Given the description of an element on the screen output the (x, y) to click on. 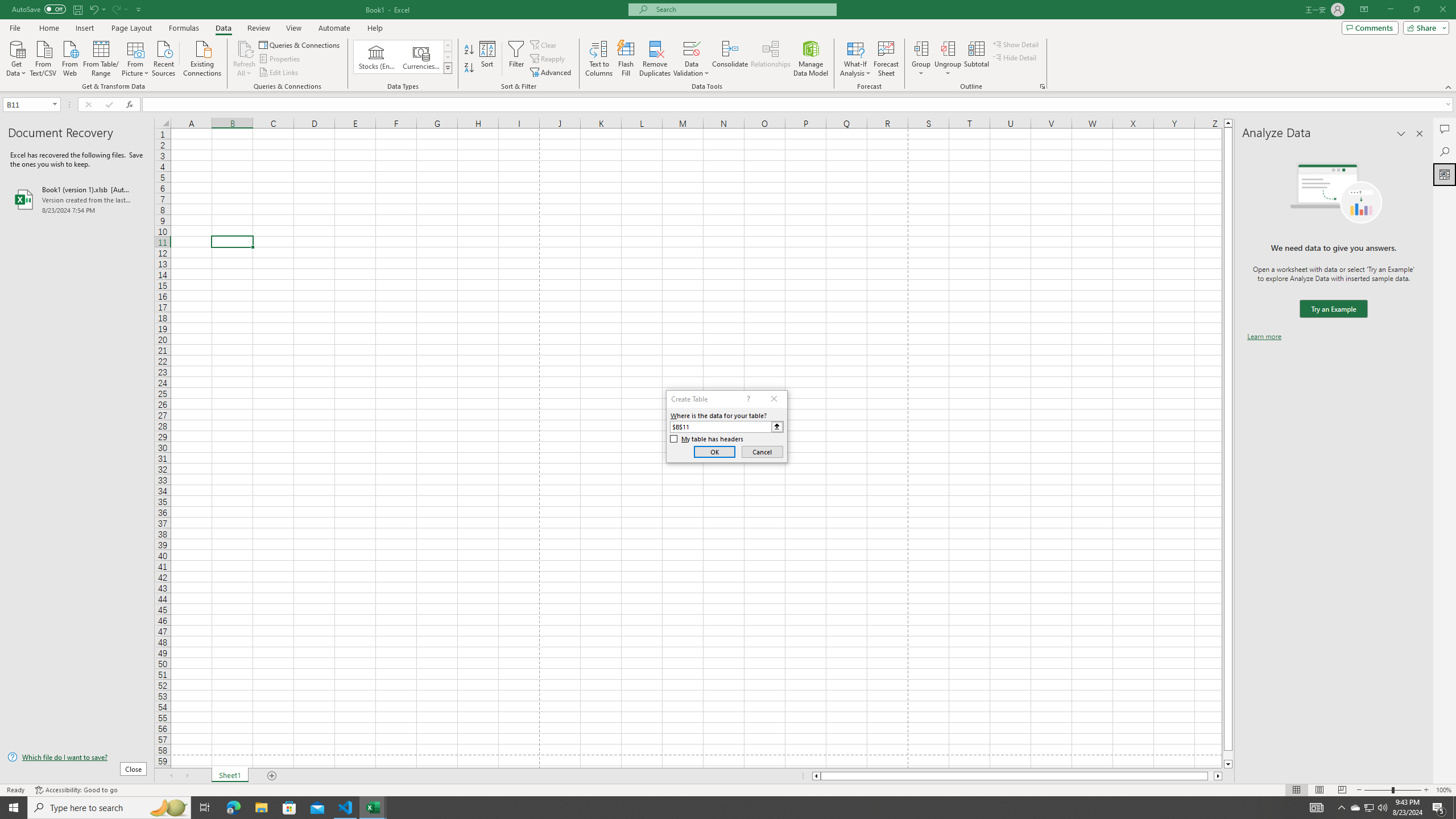
Reapply (548, 58)
Close pane (1419, 133)
Search (1444, 151)
What-If Analysis (855, 58)
Learn more (1264, 336)
